Given the description of an element on the screen output the (x, y) to click on. 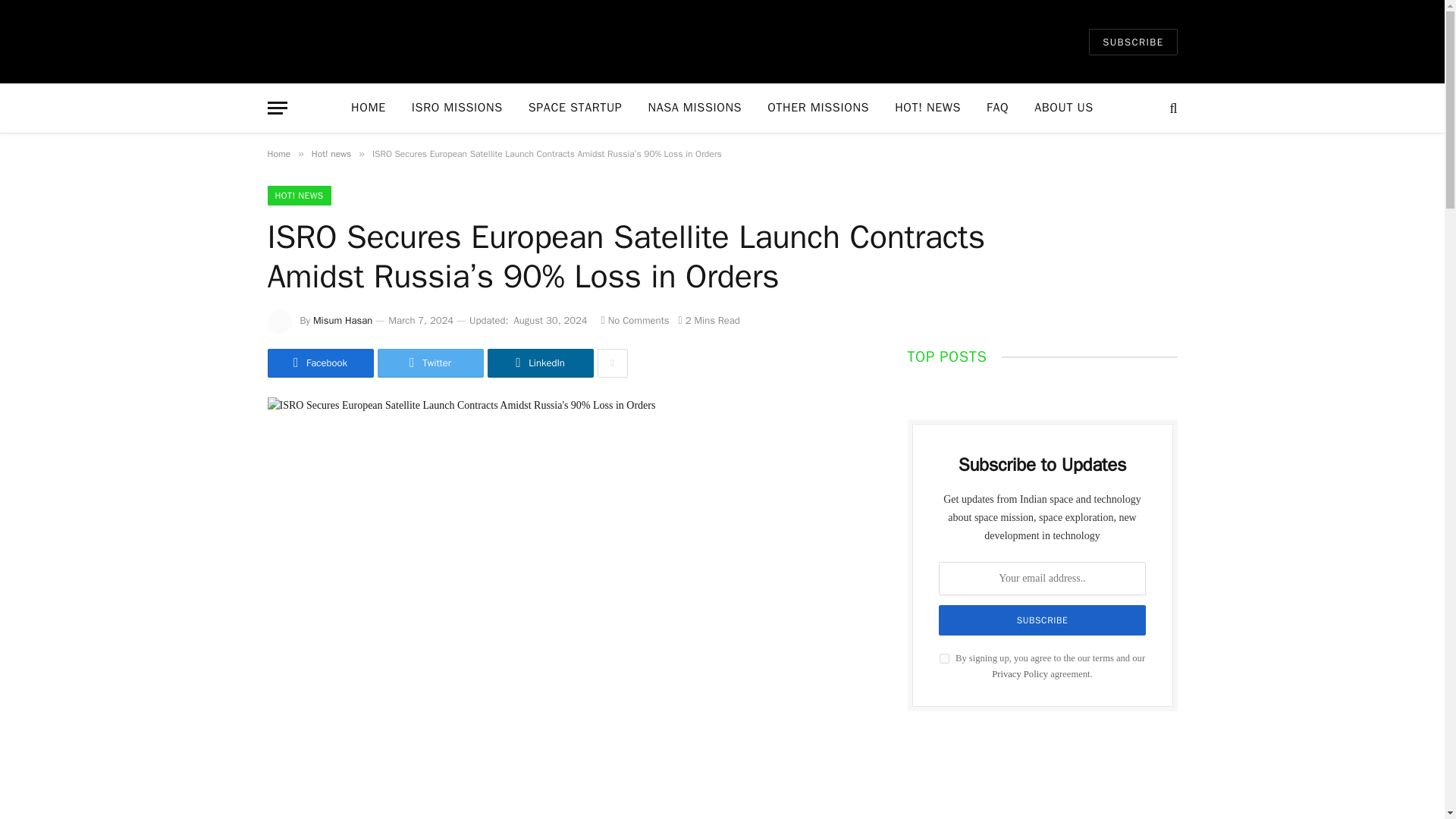
Home (277, 153)
No Comments (635, 319)
Share on Facebook (319, 362)
Twitter (430, 362)
ISRO MISSIONS (456, 107)
HOT! NEWS (298, 195)
HOT! NEWS (928, 107)
HOME (367, 107)
SPACE STARTUP (574, 107)
Share on LinkedIn (539, 362)
